Given the description of an element on the screen output the (x, y) to click on. 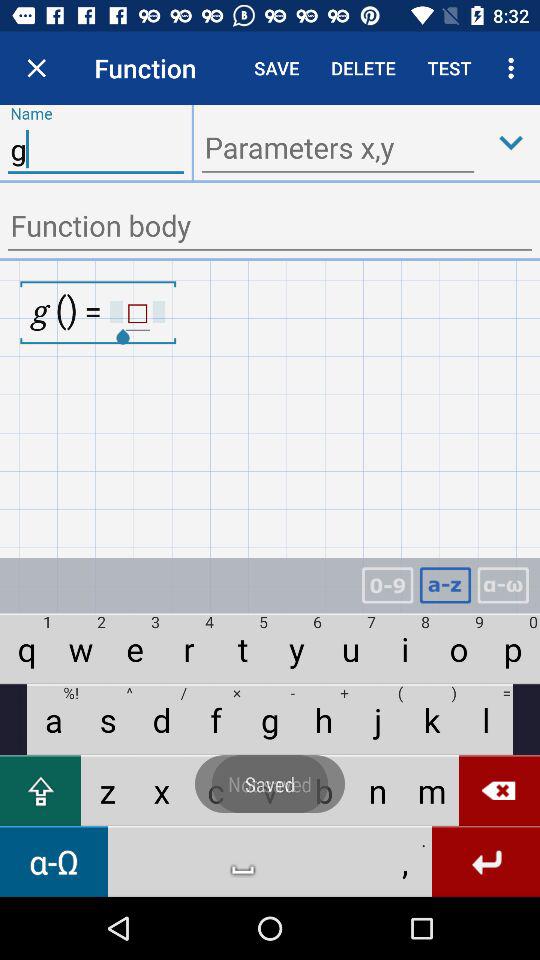
go to button (511, 142)
